Given the description of an element on the screen output the (x, y) to click on. 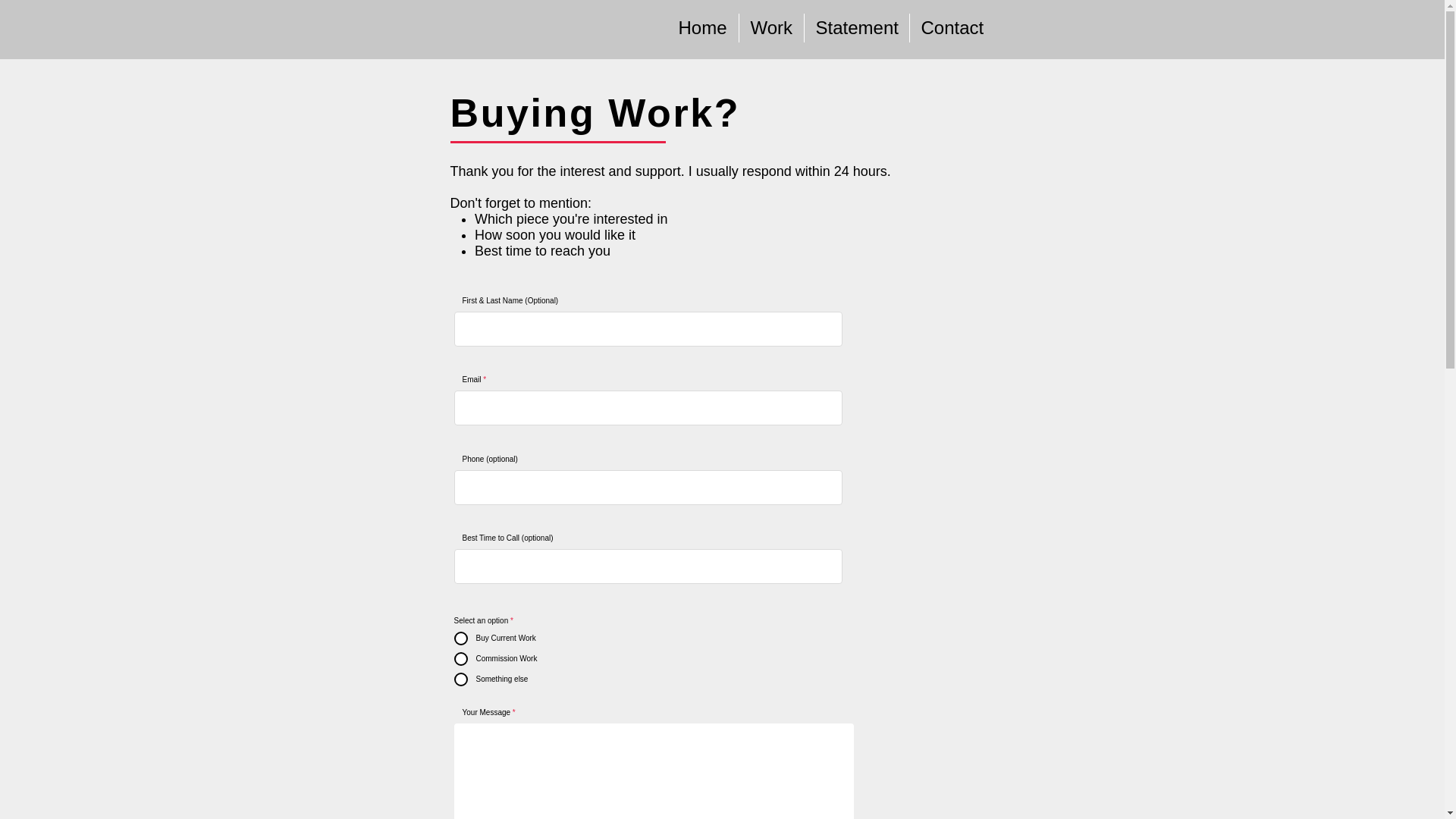
Home (702, 27)
Work (770, 27)
Statement (855, 27)
Noah Dahlien (259, 28)
Contact (951, 27)
